Given the description of an element on the screen output the (x, y) to click on. 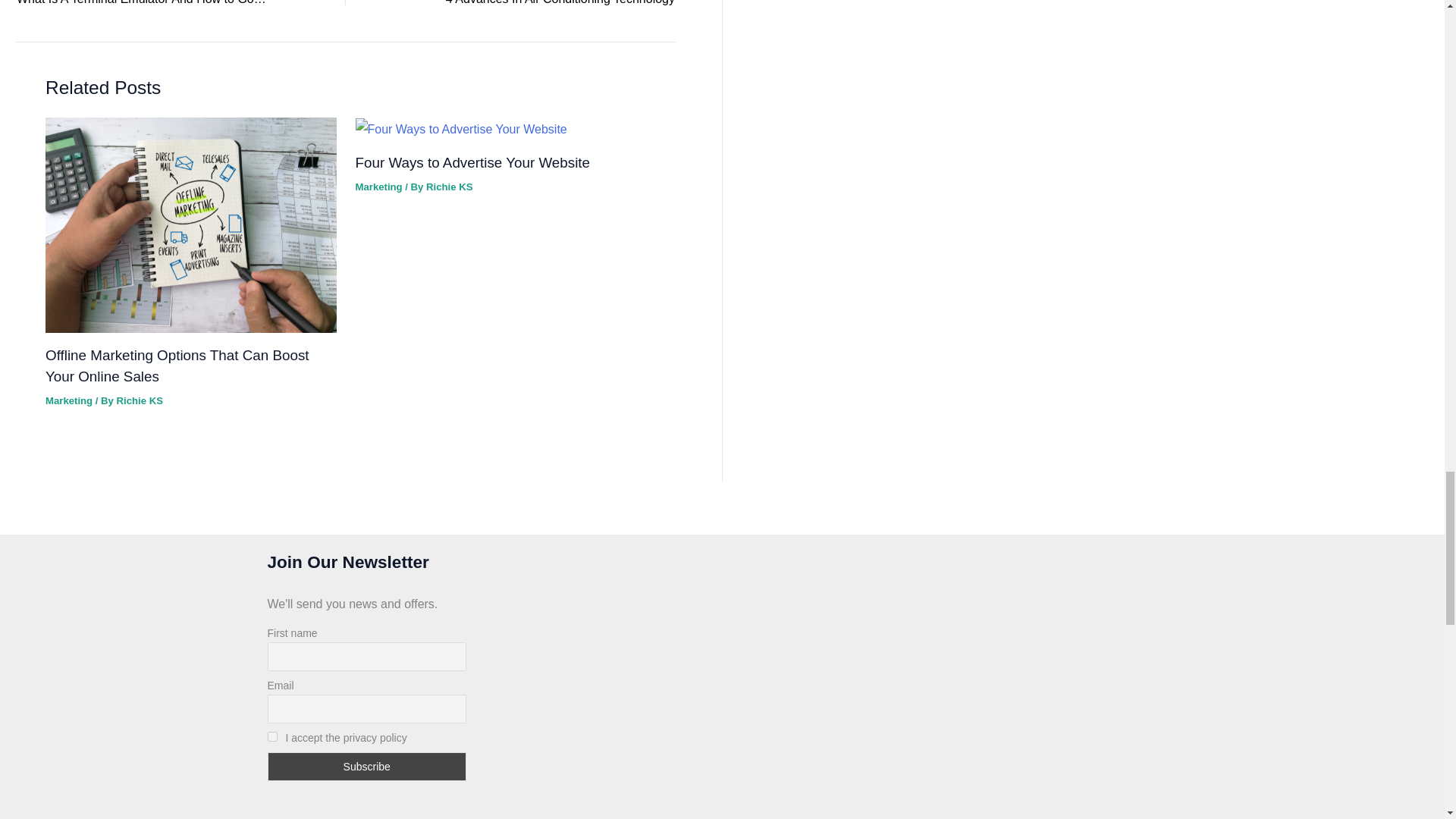
What Is A Terminal Emulator And How to Go For The Best One? (148, 4)
View all posts by Richie KS (139, 400)
Richie KS (139, 400)
on (271, 737)
4 Advances In Air Conditioning Technology (542, 4)
Subscribe (365, 766)
Offline Marketing Options That Can Boost Your Online Sales (176, 365)
Marketing (69, 400)
View all posts by Richie KS (448, 186)
Four Ways to Advertise Your Website (542, 4)
